Given the description of an element on the screen output the (x, y) to click on. 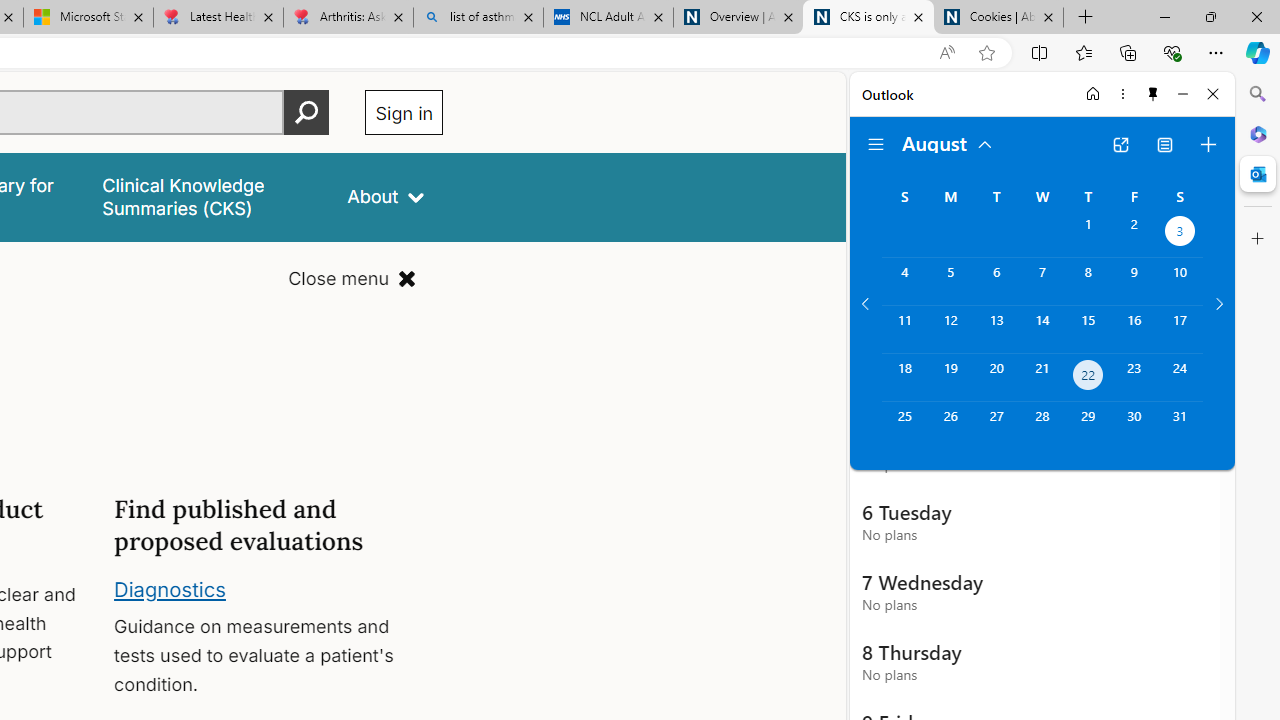
Saturday, August 24, 2024.  (1180, 377)
About (386, 196)
Monday, August 26, 2024.  (950, 425)
Friday, August 30, 2024.  (1134, 425)
Sunday, August 11, 2024.  (904, 329)
CKS is only available in the UK | NICE (868, 17)
Friday, August 23, 2024.  (1134, 377)
Saturday, August 3, 2024. Date selected.  (1180, 233)
Folder navigation (876, 144)
Create event (1208, 144)
Saturday, August 31, 2024.  (1180, 425)
Wednesday, August 14, 2024.  (1042, 329)
